Given the description of an element on the screen output the (x, y) to click on. 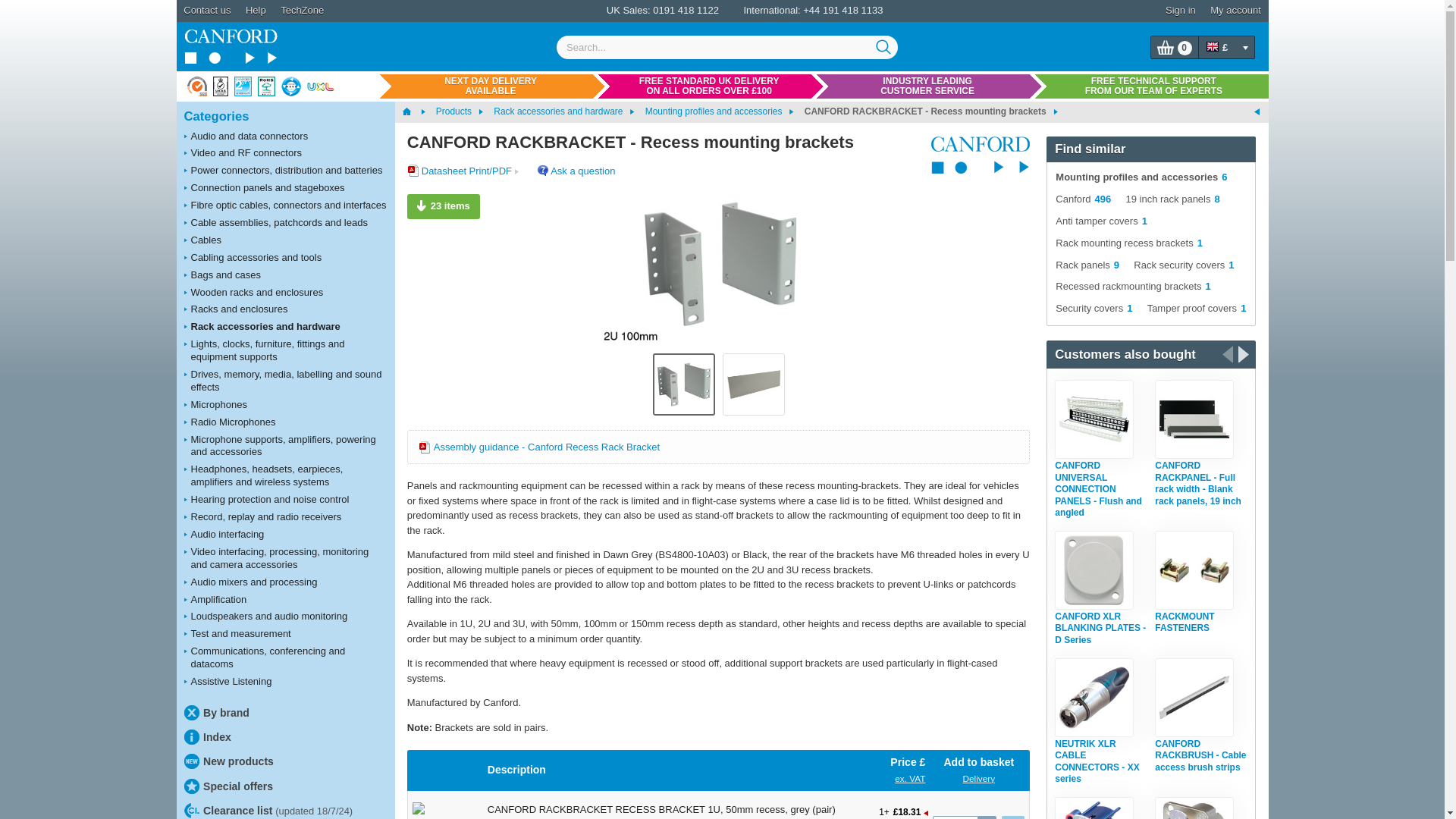
CANFORD RACKBRACKET - Recess mounting brackets (717, 269)
Add to basket (1013, 817)
Rack accessories and hardware (285, 326)
Microphones (285, 405)
Search (884, 47)
Sign in (1179, 11)
Search (884, 47)
Video and RF connectors (285, 153)
International: (770, 9)
Microphone supports, amplifiers, powering and accessories (285, 446)
TechZone (302, 11)
UK Sales: (628, 9)
My account (1236, 11)
Categories (285, 114)
